Given the description of an element on the screen output the (x, y) to click on. 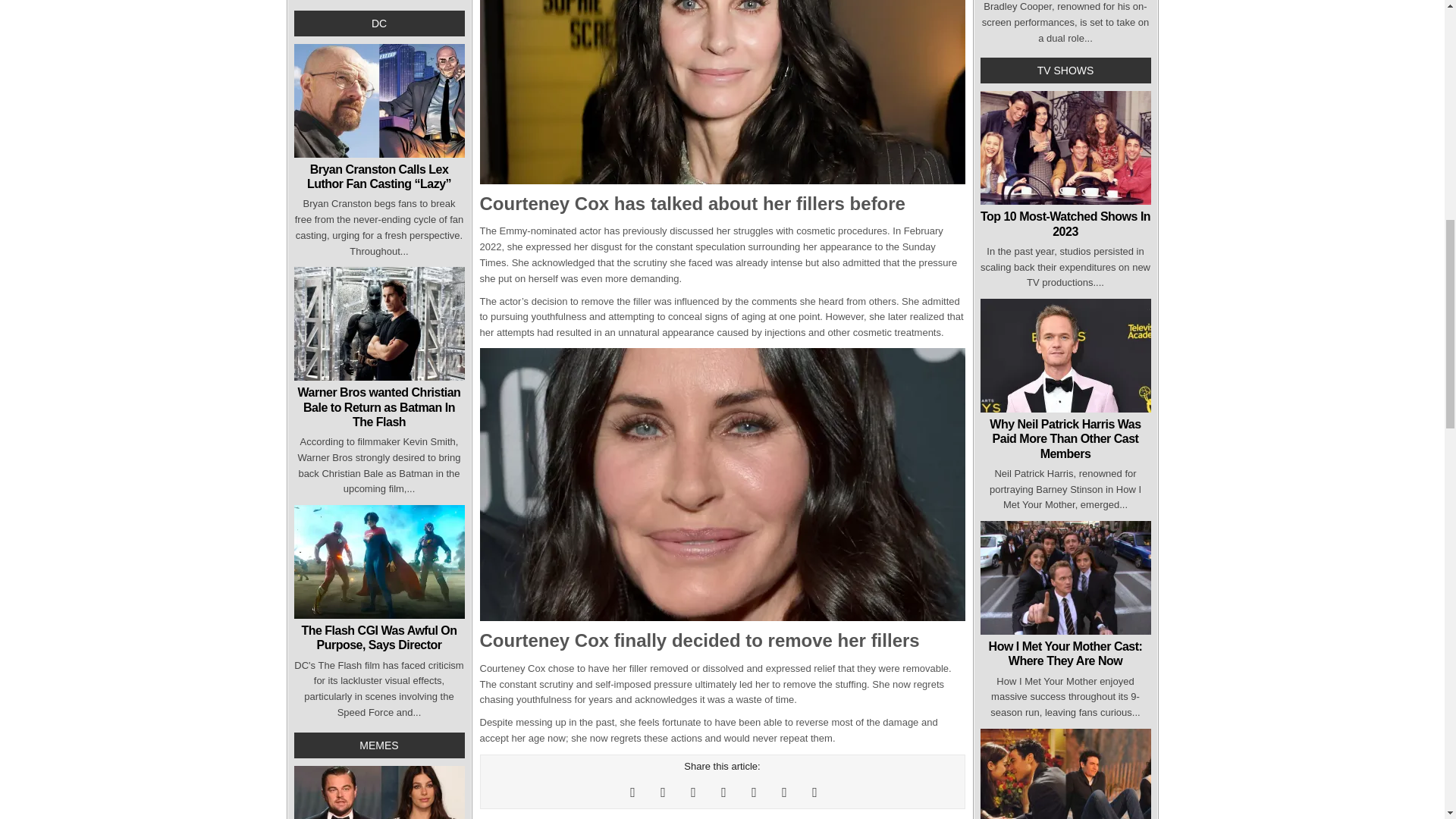
Share this on Digg (753, 792)
Share this on VK (814, 792)
Share this on Linkedin (783, 792)
Share this on Pinterest (692, 792)
Share this on Reddit (723, 792)
Share this on Facebook (662, 792)
Tweet This! (632, 792)
